Given the description of an element on the screen output the (x, y) to click on. 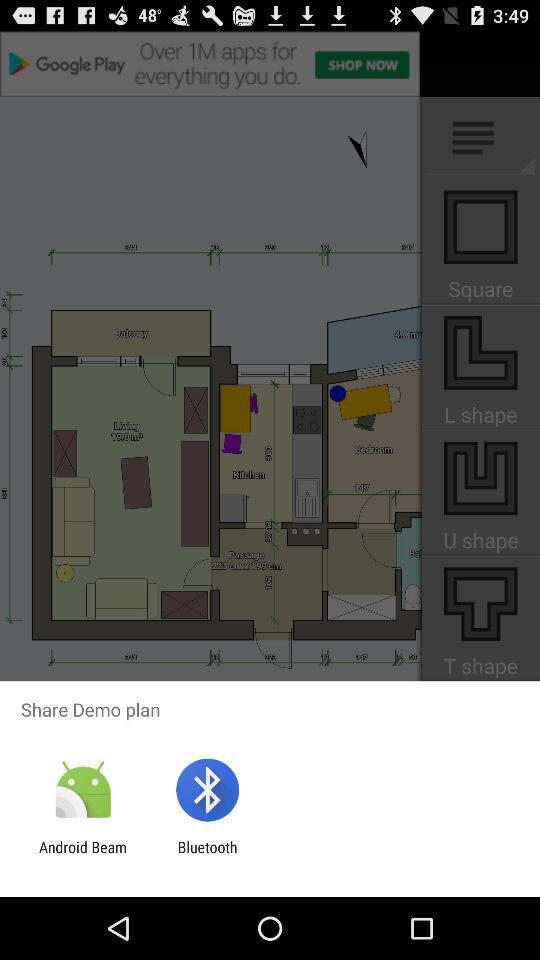
swipe to bluetooth item (207, 856)
